Given the description of an element on the screen output the (x, y) to click on. 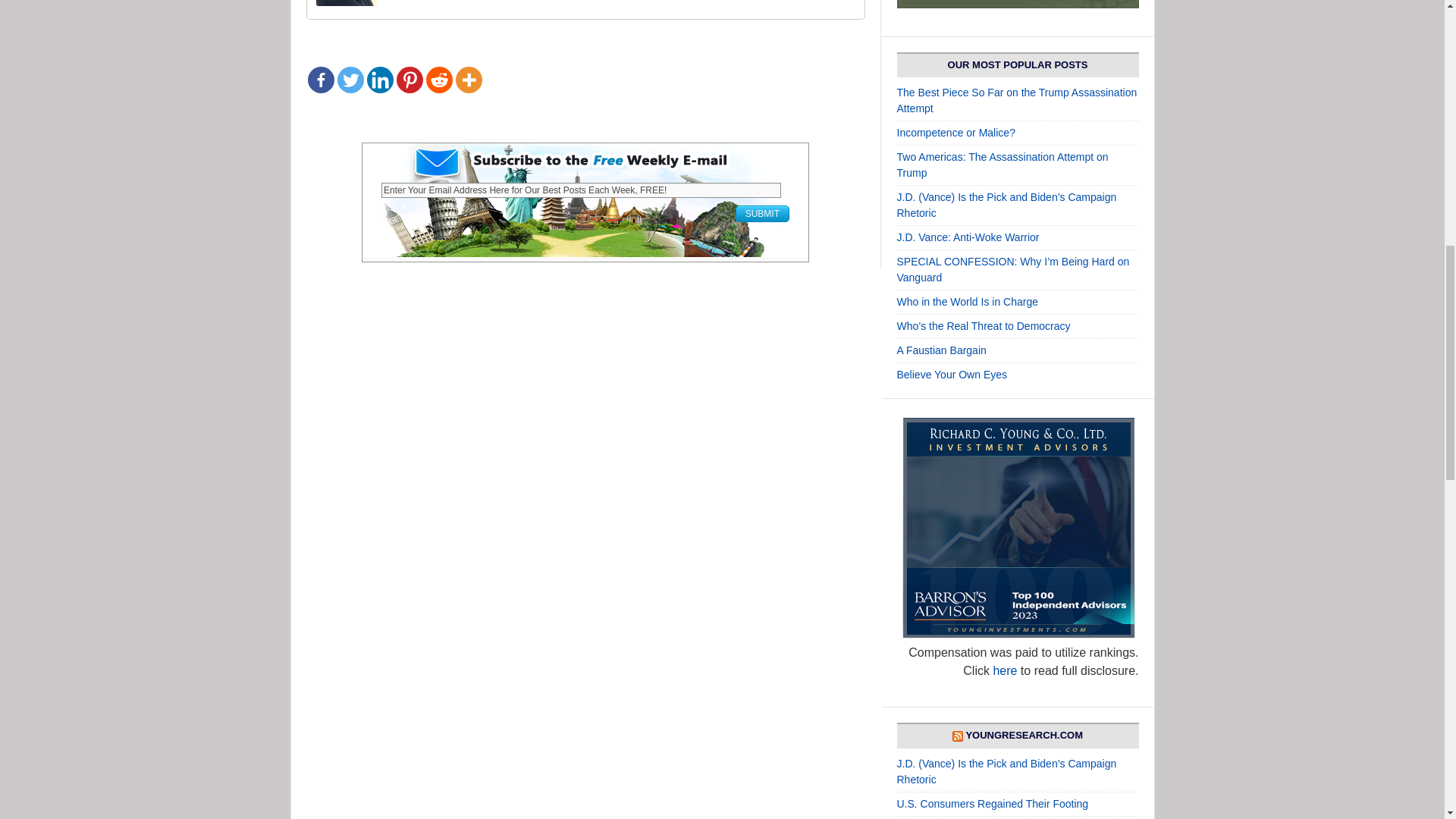
Richard C. Young (345, 2)
More (467, 79)
Linkedin (379, 79)
Twitter (349, 79)
Reddit (439, 79)
Facebook (320, 79)
Pinterest (409, 79)
Submit (762, 213)
